Given the description of an element on the screen output the (x, y) to click on. 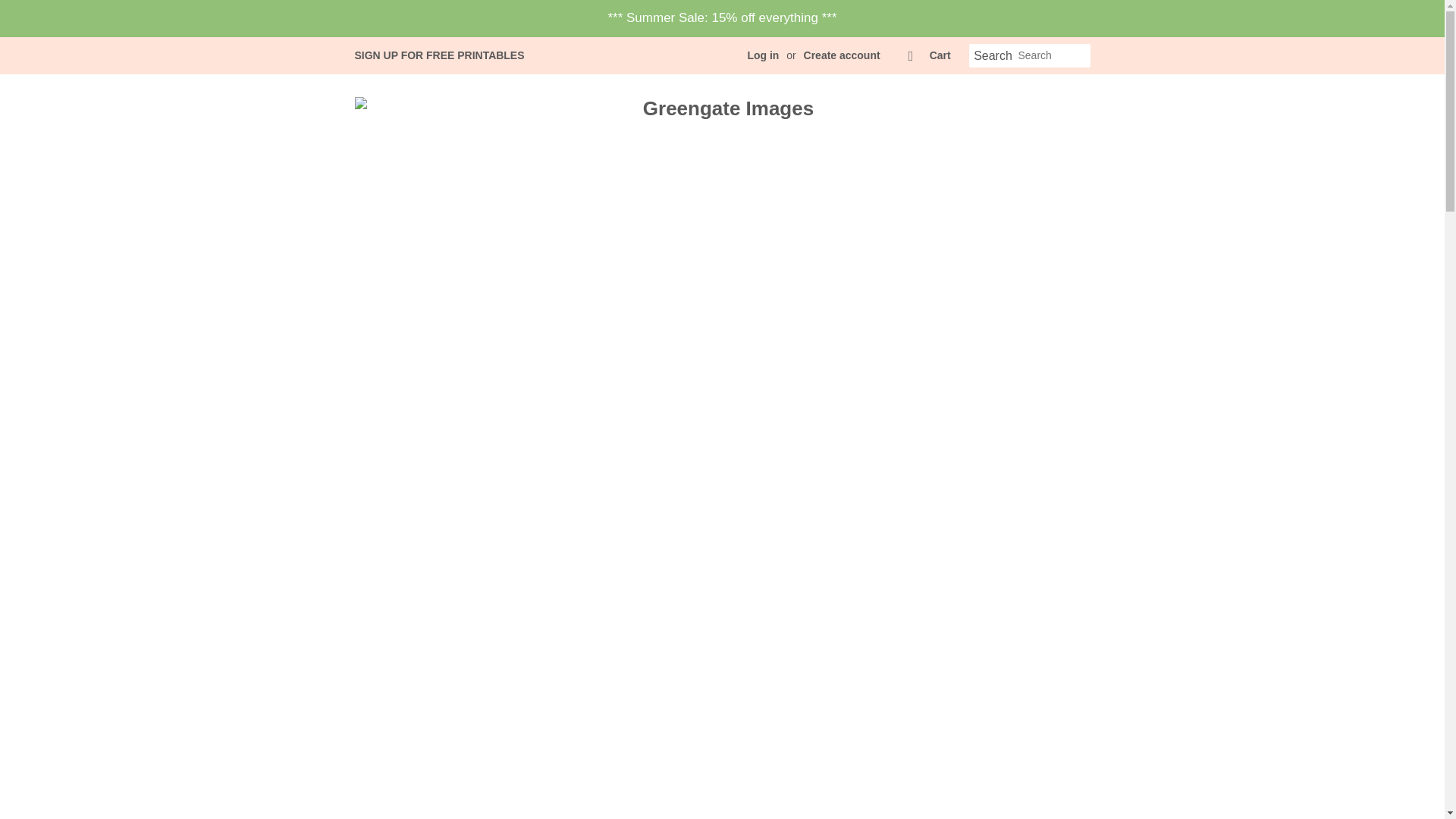
Create account (841, 55)
Search (993, 56)
Cart (940, 55)
SIGN UP FOR FREE PRINTABLES (439, 55)
Log in (762, 55)
